Given the description of an element on the screen output the (x, y) to click on. 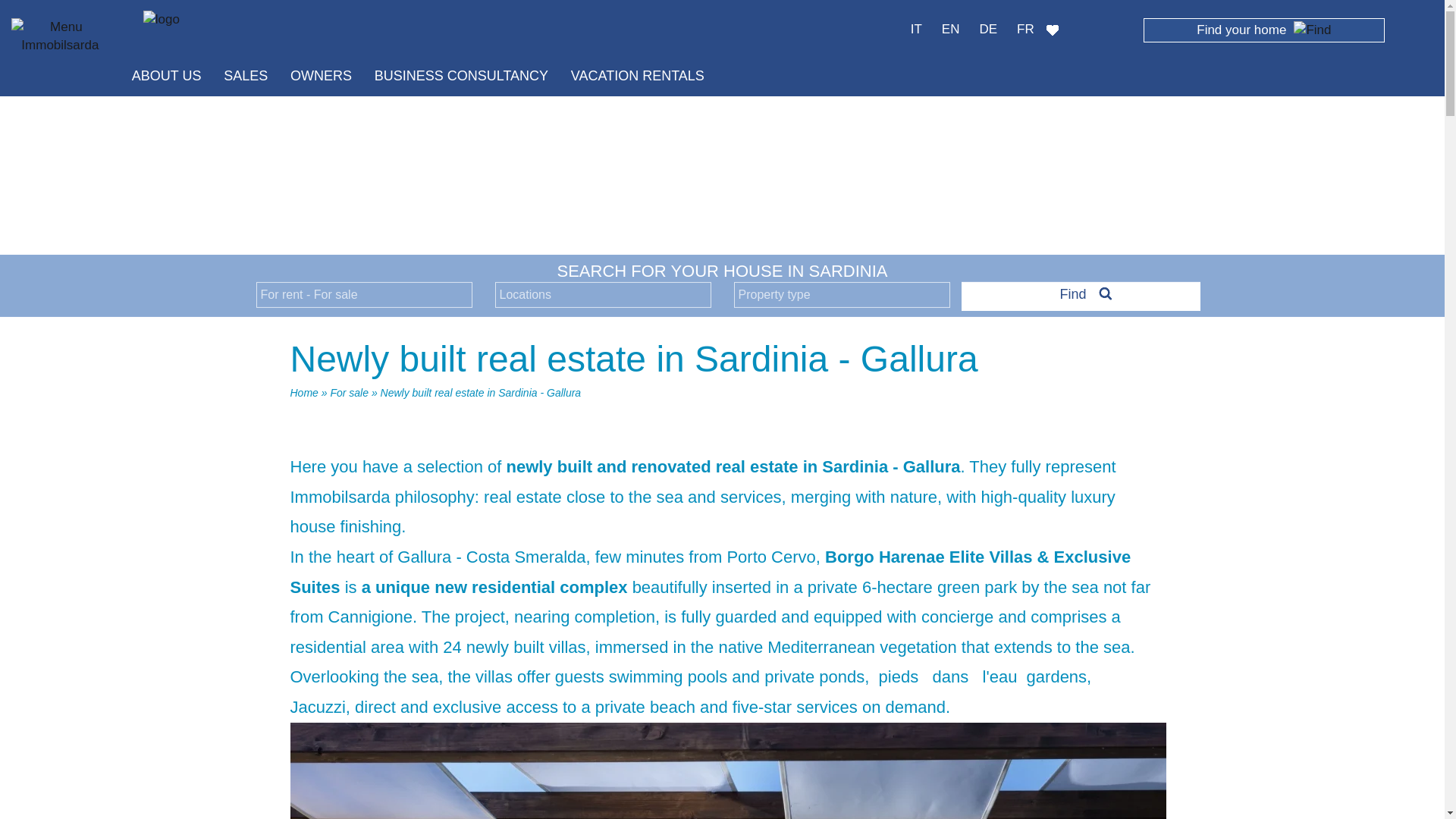
Find (1080, 294)
Home (303, 392)
